Given the description of an element on the screen output the (x, y) to click on. 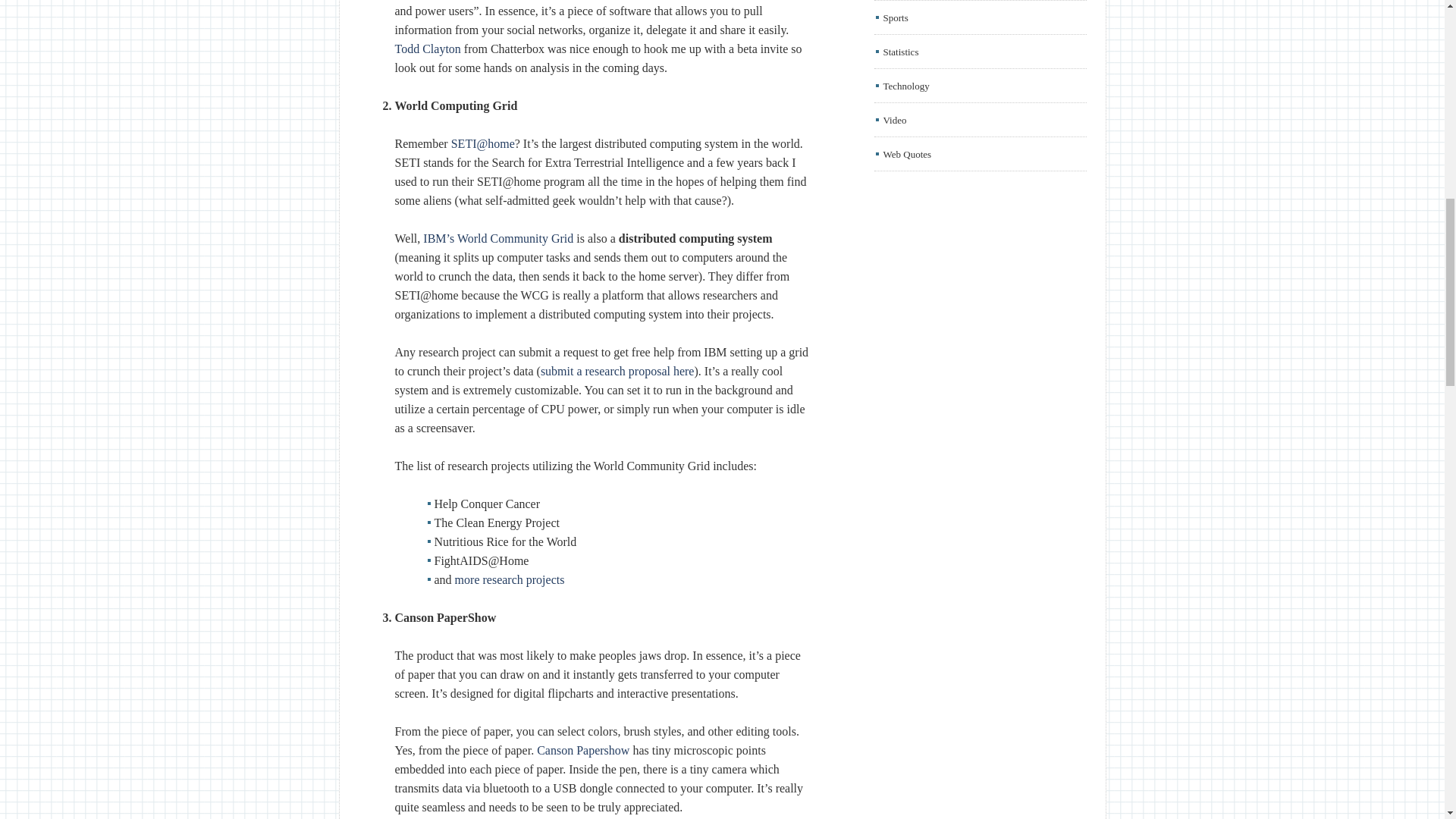
Canson Papershow (582, 749)
more research projects (509, 579)
Todd Clayton (427, 48)
submit a research proposal here (617, 370)
